Given the description of an element on the screen output the (x, y) to click on. 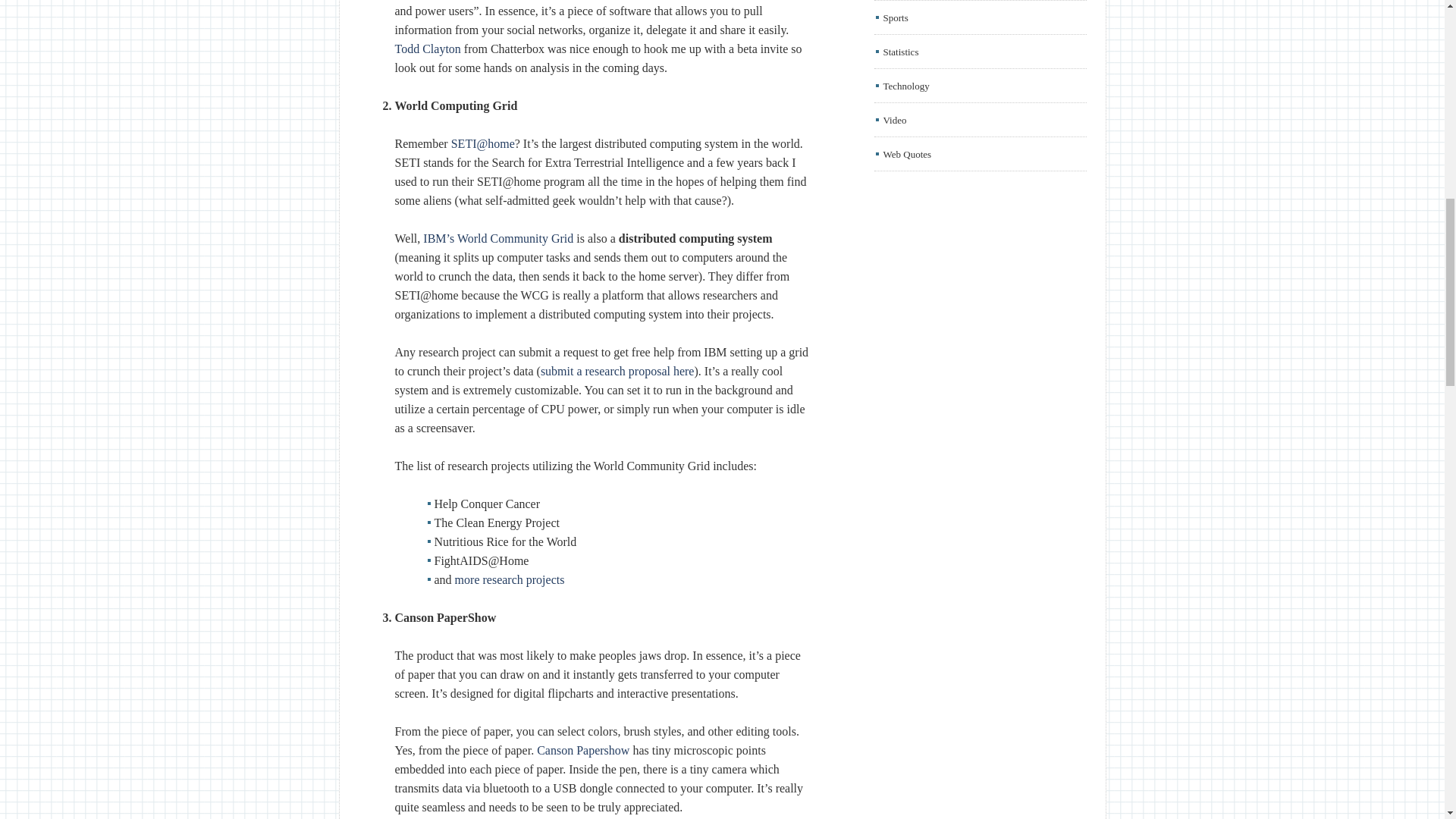
Canson Papershow (582, 749)
more research projects (509, 579)
Todd Clayton (427, 48)
submit a research proposal here (617, 370)
